Given the description of an element on the screen output the (x, y) to click on. 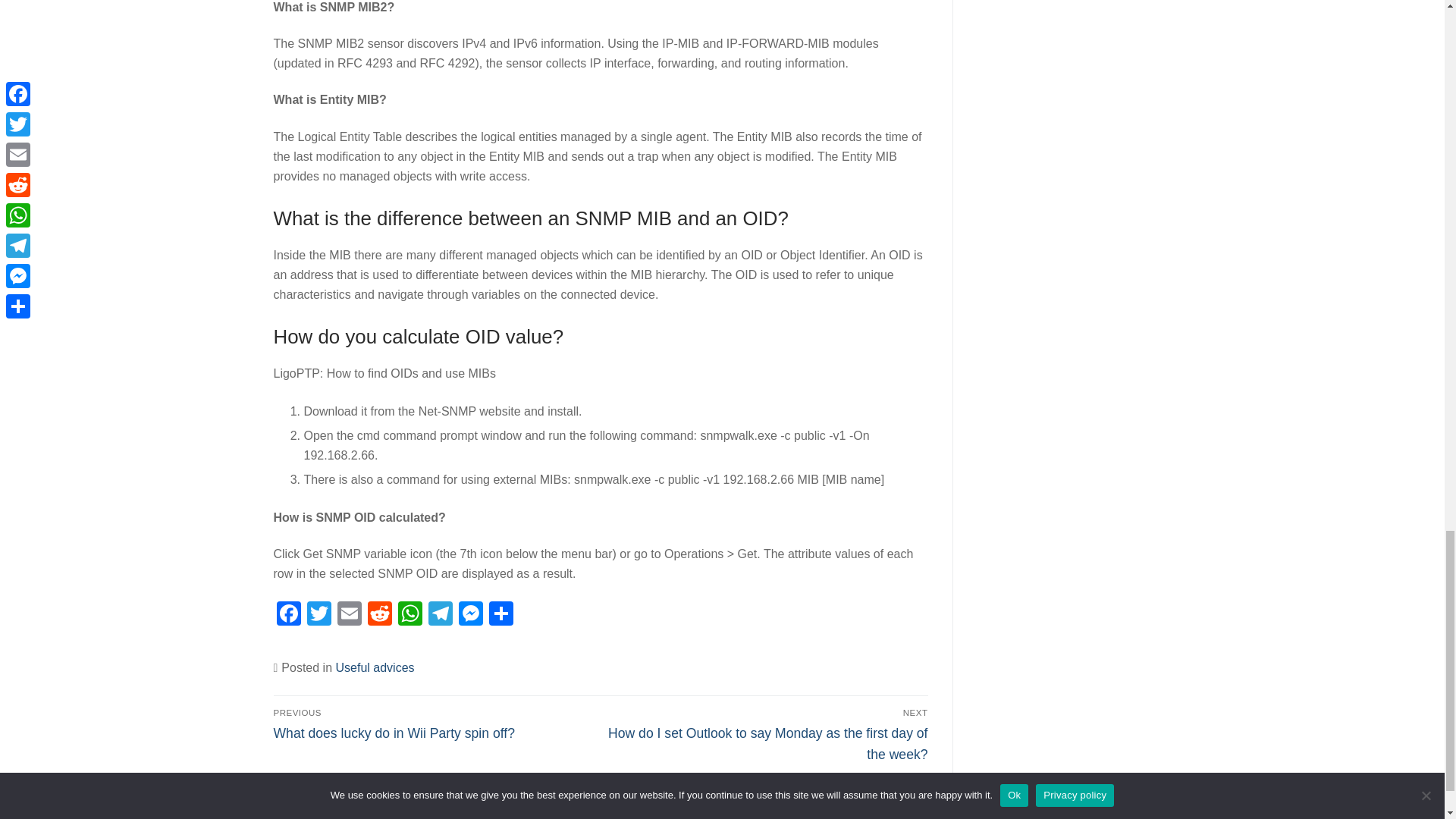
Share (499, 615)
WhatsApp (409, 615)
Email (348, 615)
WhatsApp (409, 615)
Messenger (469, 615)
Reddit (379, 615)
Useful advices (373, 667)
Messenger (469, 615)
Telegram (439, 615)
Email (348, 615)
Twitter (317, 615)
Facebook (287, 615)
Telegram (439, 615)
